Given the description of an element on the screen output the (x, y) to click on. 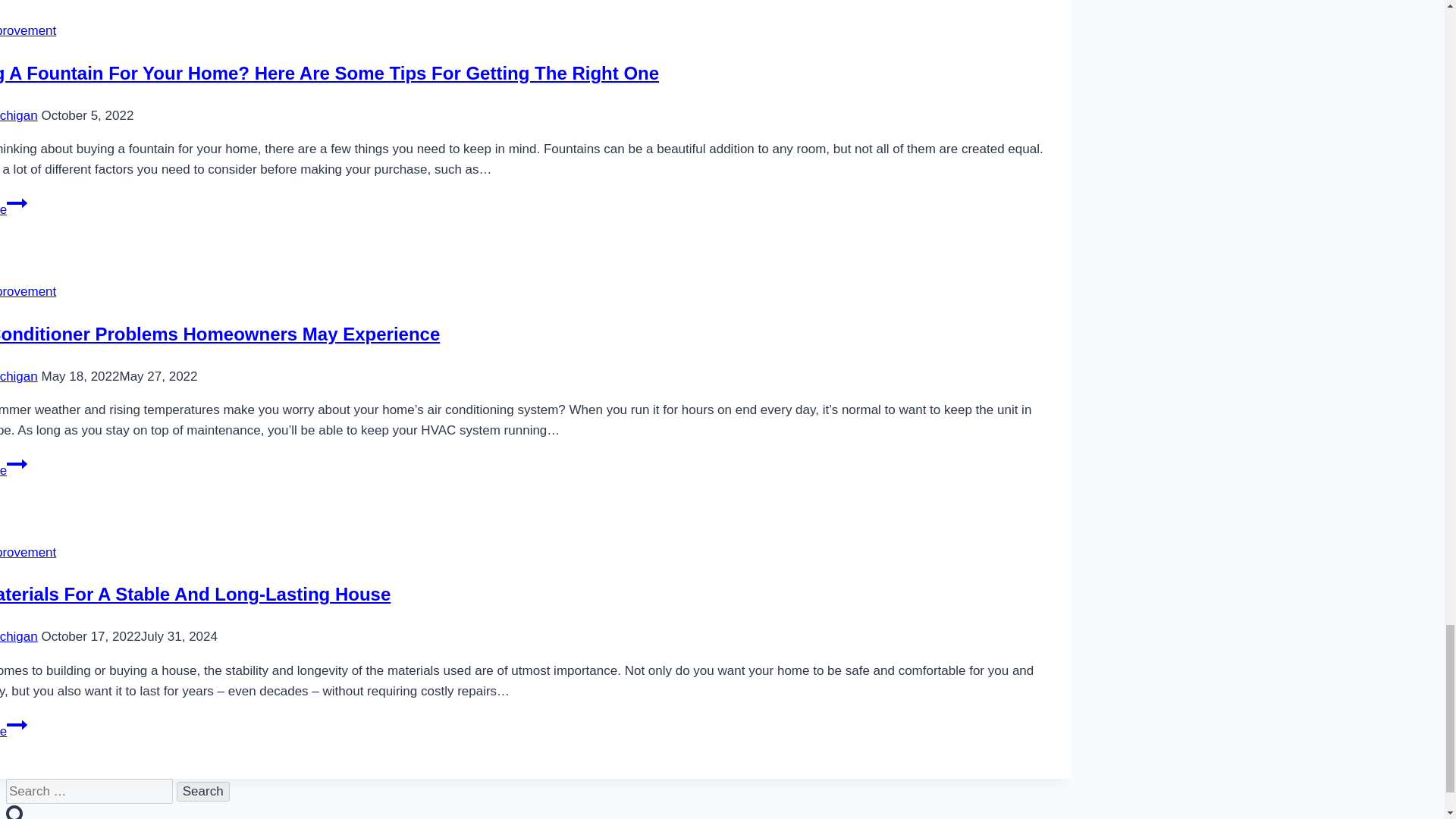
Search (203, 791)
Search (203, 791)
Continue (17, 202)
Continue (17, 724)
Continue (17, 464)
